Given the description of an element on the screen output the (x, y) to click on. 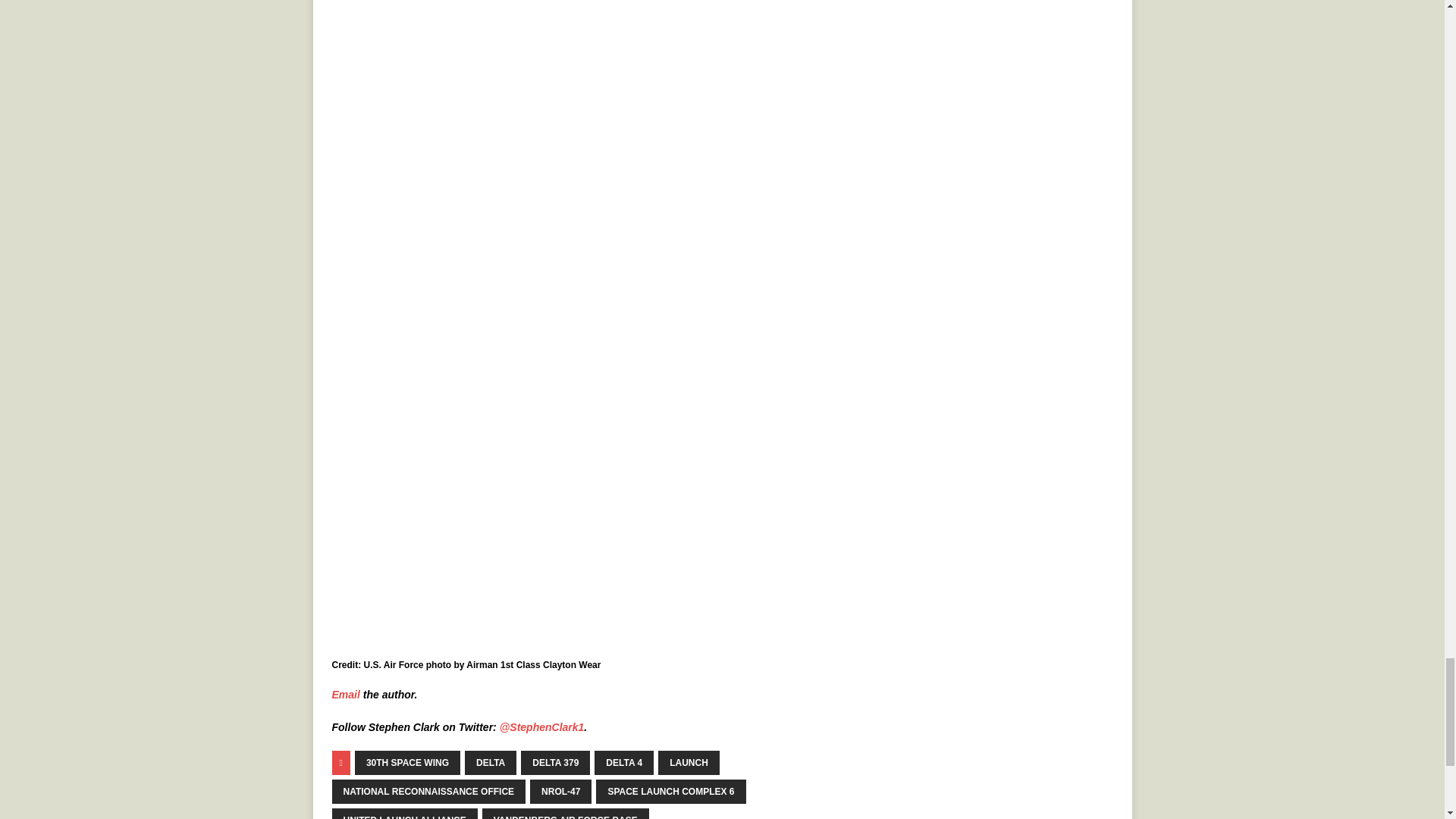
LAUNCH (688, 762)
DELTA 379 (555, 762)
Email (345, 694)
30TH SPACE WING (407, 762)
NATIONAL RECONNAISSANCE OFFICE (428, 791)
DELTA 4 (623, 762)
DELTA (490, 762)
